Given the description of an element on the screen output the (x, y) to click on. 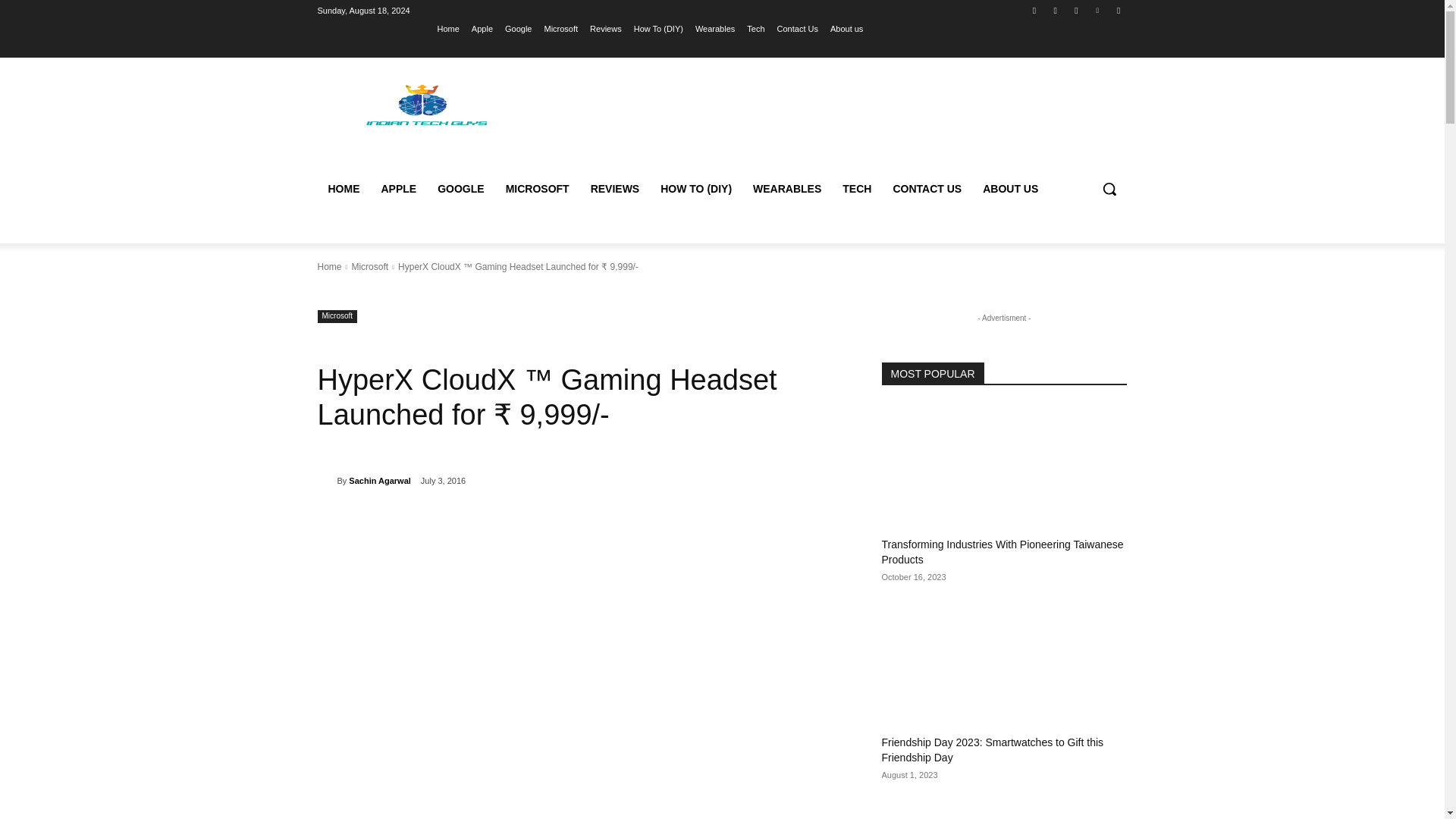
TECH (856, 188)
Twitter (1075, 9)
WEARABLES (786, 188)
GOOGLE (460, 188)
Wearables (715, 28)
Contact Us (797, 28)
About us (846, 28)
Vimeo (1097, 9)
Your Tech-World Simplified (425, 102)
